Given the description of an element on the screen output the (x, y) to click on. 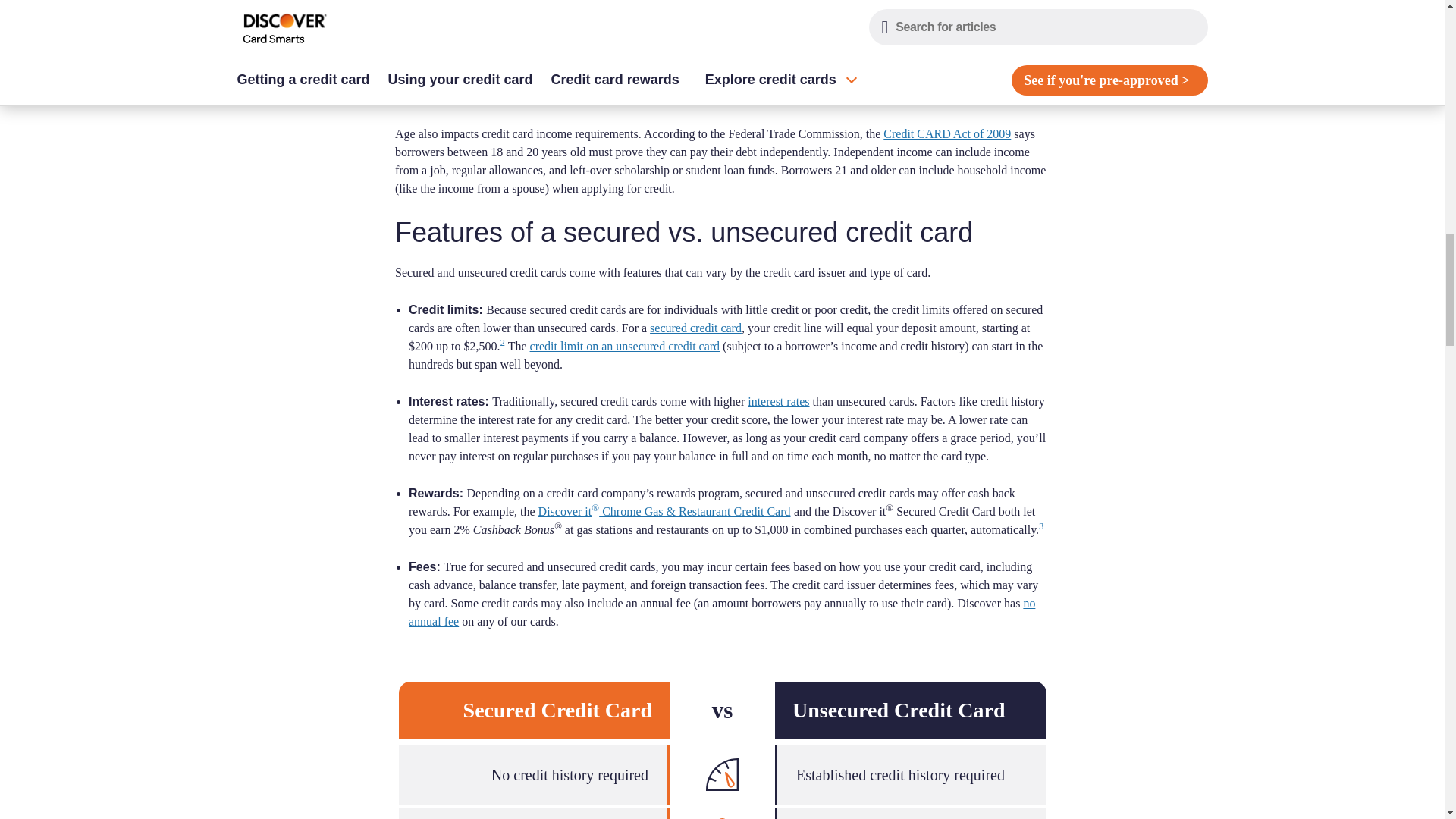
no annual fee (722, 612)
interest rates (778, 400)
Credit CARD Act of 2009 (946, 133)
secured credit card (695, 327)
credit limit on an unsecured credit card (624, 345)
